Given the description of an element on the screen output the (x, y) to click on. 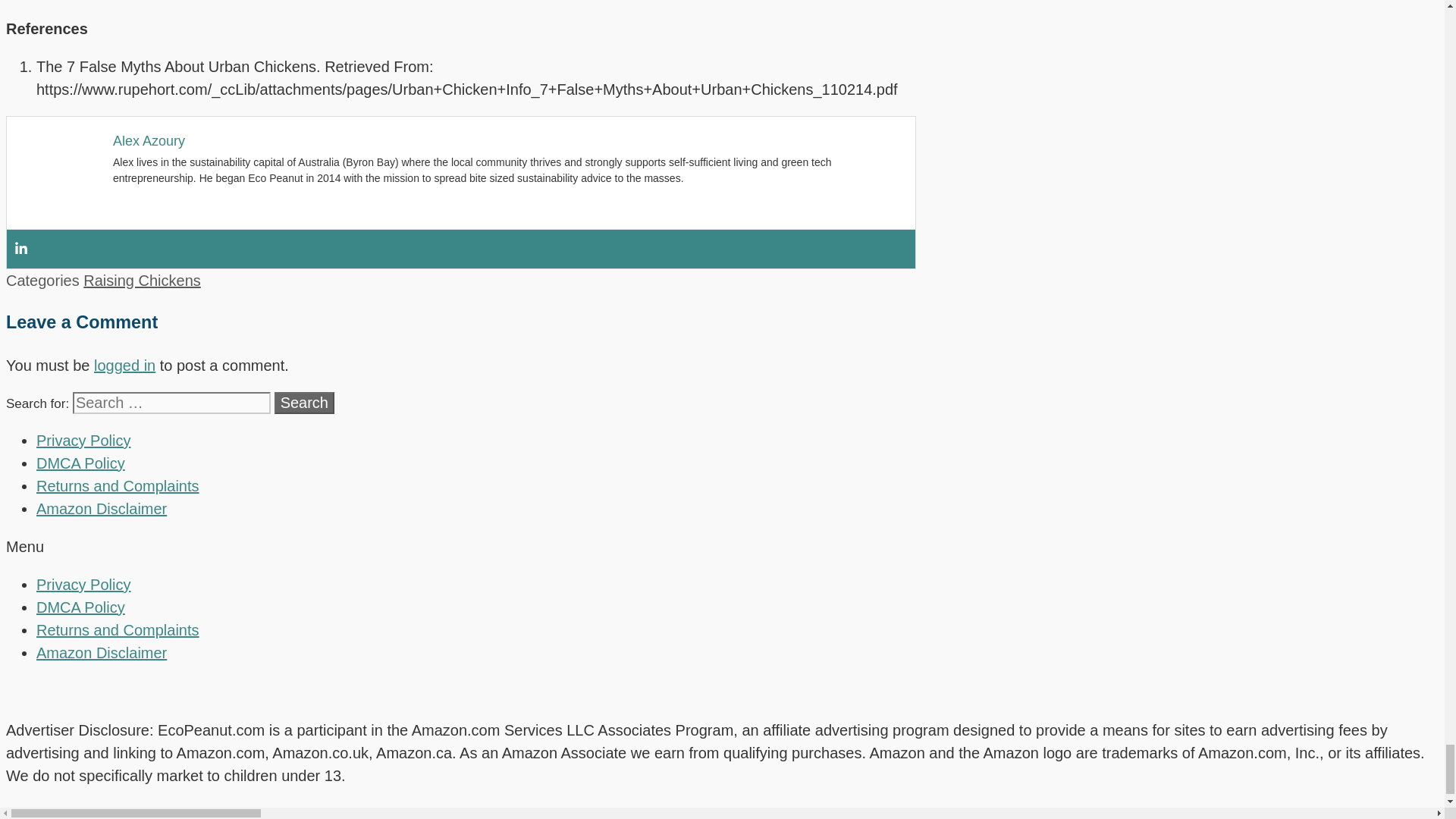
Search for: (171, 403)
Search (304, 403)
Alex Azoury (148, 140)
Privacy Policy (83, 440)
DMCA Policy (80, 463)
Raising Chickens (141, 280)
logged in (124, 365)
Search (304, 403)
DMCA.com Protection Status (722, 692)
Search (304, 403)
